Given the description of an element on the screen output the (x, y) to click on. 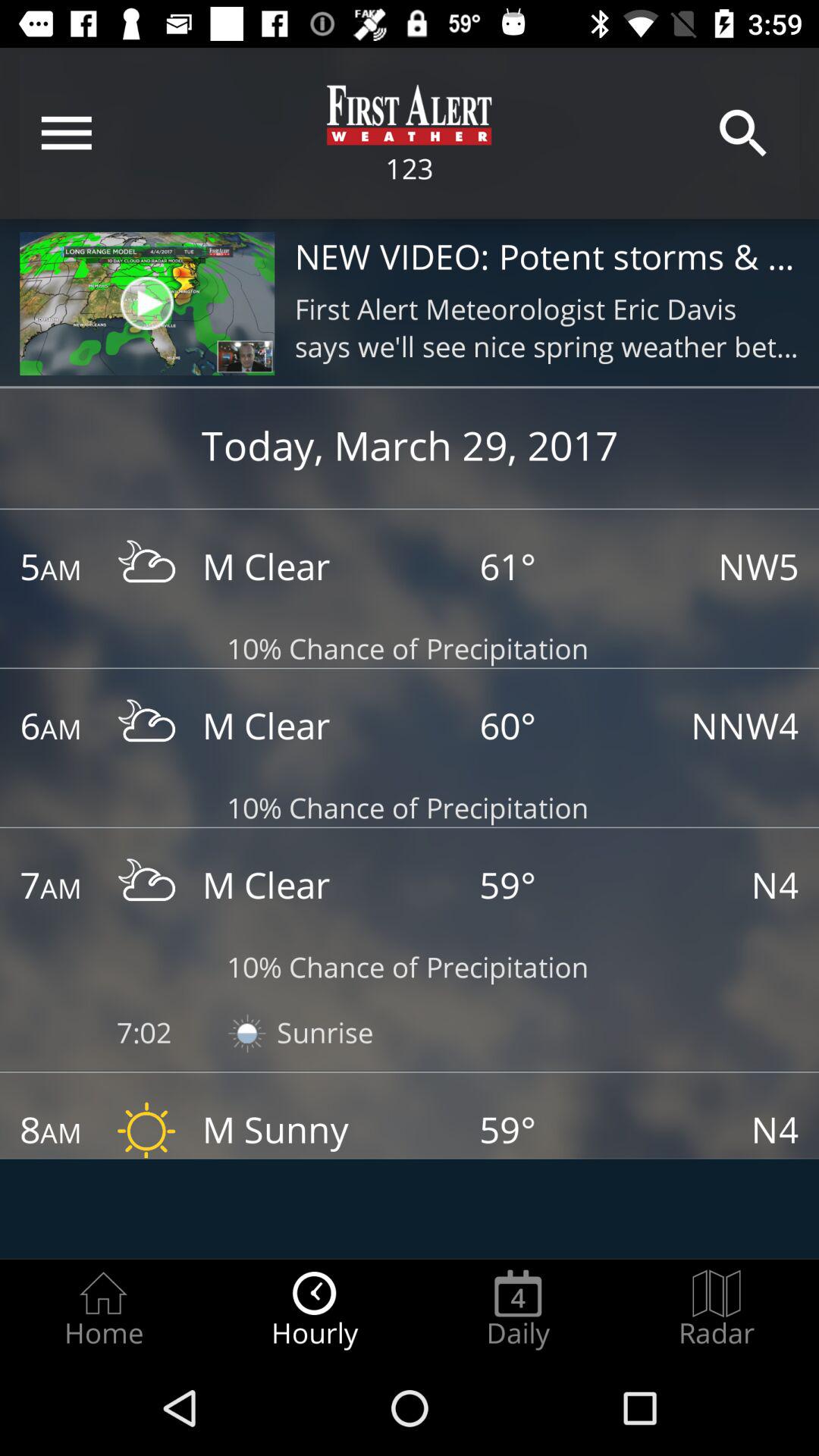
scroll until the daily (518, 1309)
